Given the description of an element on the screen output the (x, y) to click on. 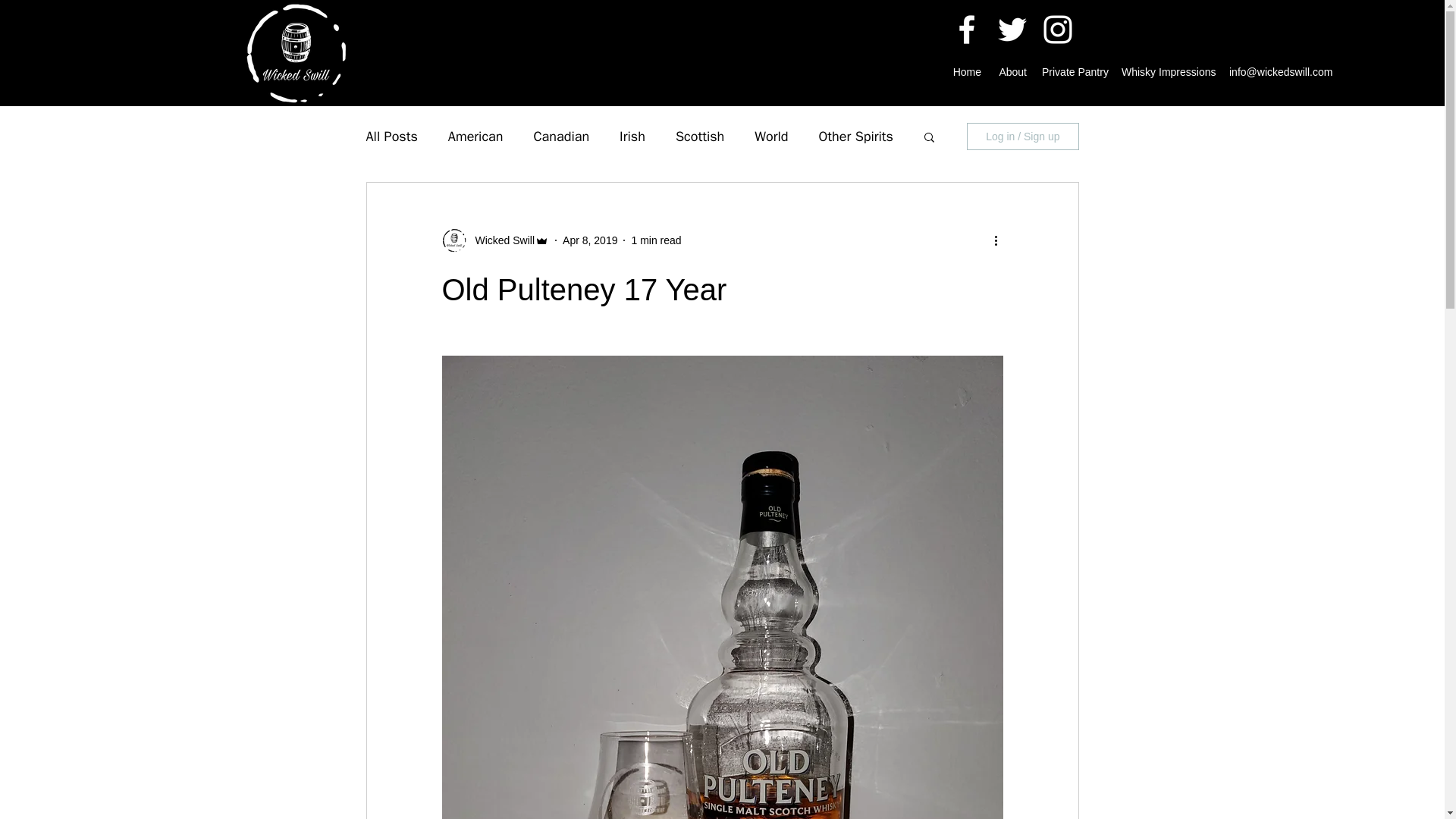
Other Spirits (855, 136)
Whisky Impressions (1167, 71)
All Posts (390, 136)
Private Pantry (1073, 71)
1 min read (655, 239)
About (1010, 71)
American (475, 136)
Apr 8, 2019 (589, 239)
Wicked Swill (499, 239)
Scottish (699, 136)
Home (966, 71)
Irish (632, 136)
World (770, 136)
Canadian (560, 136)
